Given the description of an element on the screen output the (x, y) to click on. 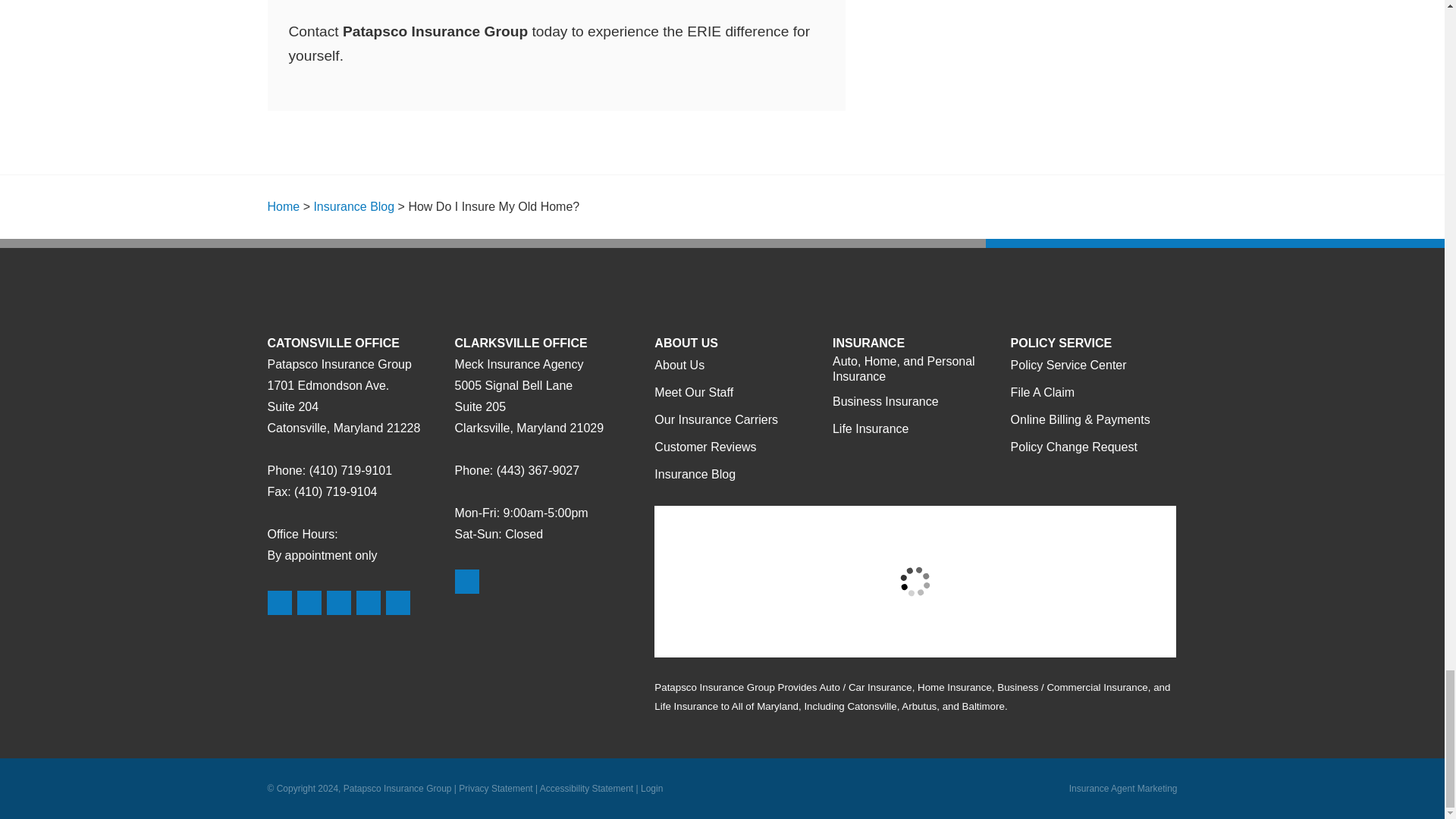
Facebook (338, 602)
Instagram (397, 602)
Google Maps (466, 581)
LinkedIn (368, 602)
Yelp (309, 602)
Google Maps (278, 602)
